Given the description of an element on the screen output the (x, y) to click on. 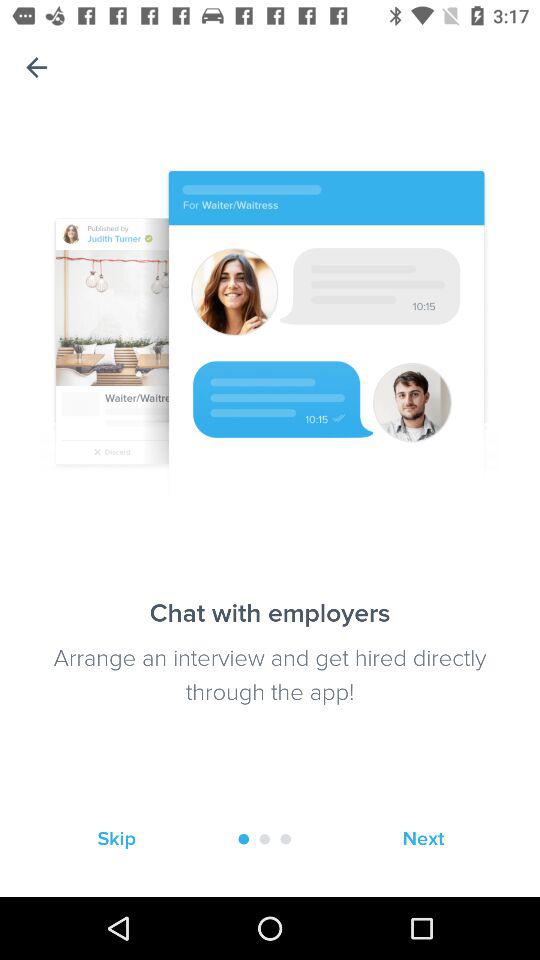
choose skip item (116, 838)
